Given the description of an element on the screen output the (x, y) to click on. 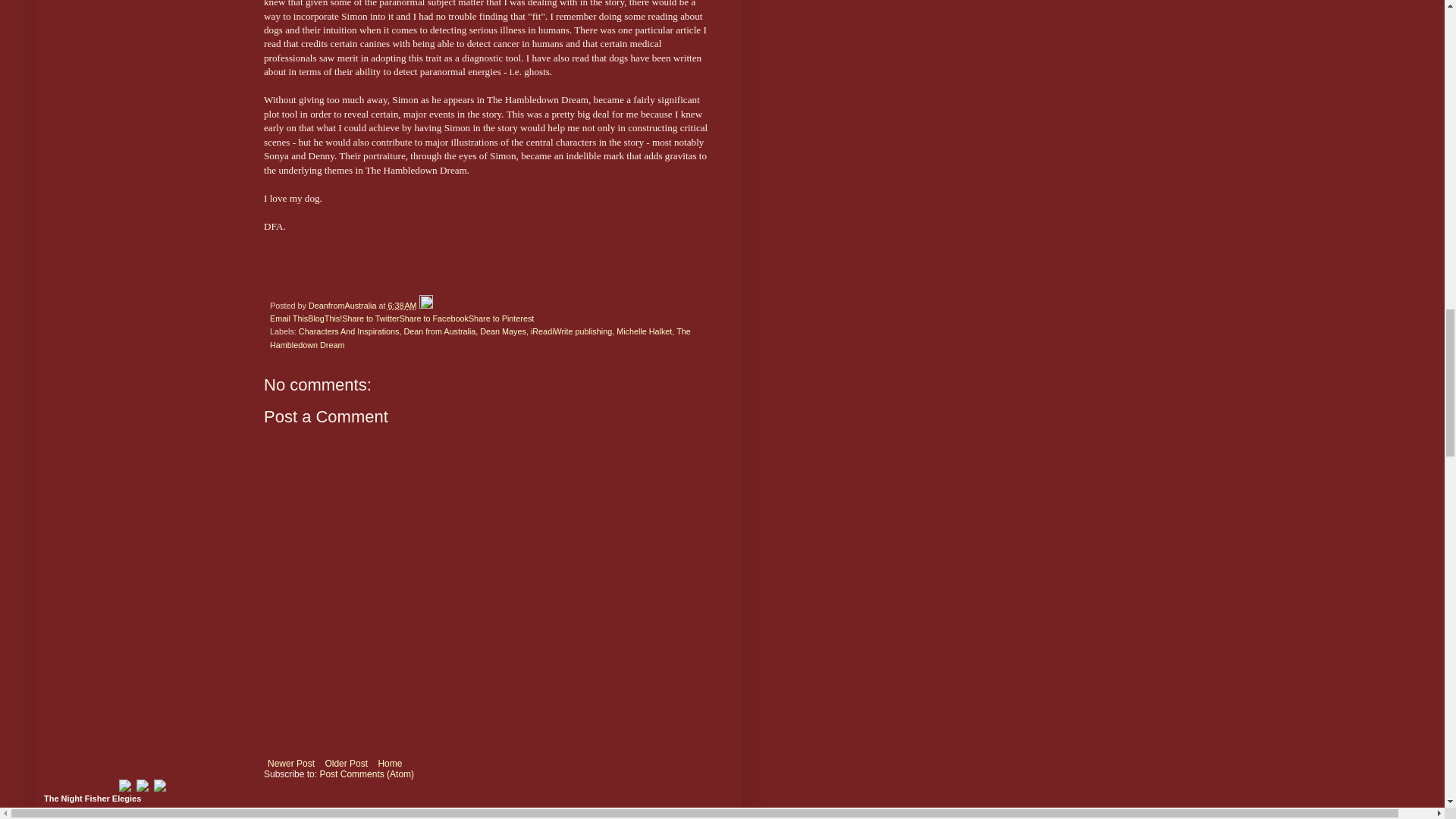
Share to Twitter (370, 317)
Newer Post (290, 763)
BlogThis! (324, 317)
Home (390, 763)
author profile (343, 305)
Share to Facebook (433, 317)
Share to Twitter (370, 317)
Older Post (345, 763)
Newer Post (290, 763)
DeanfromAustralia (343, 305)
Email This (288, 317)
Older Post (345, 763)
Share to Pinterest (501, 317)
Share to Pinterest (501, 317)
